Given the description of an element on the screen output the (x, y) to click on. 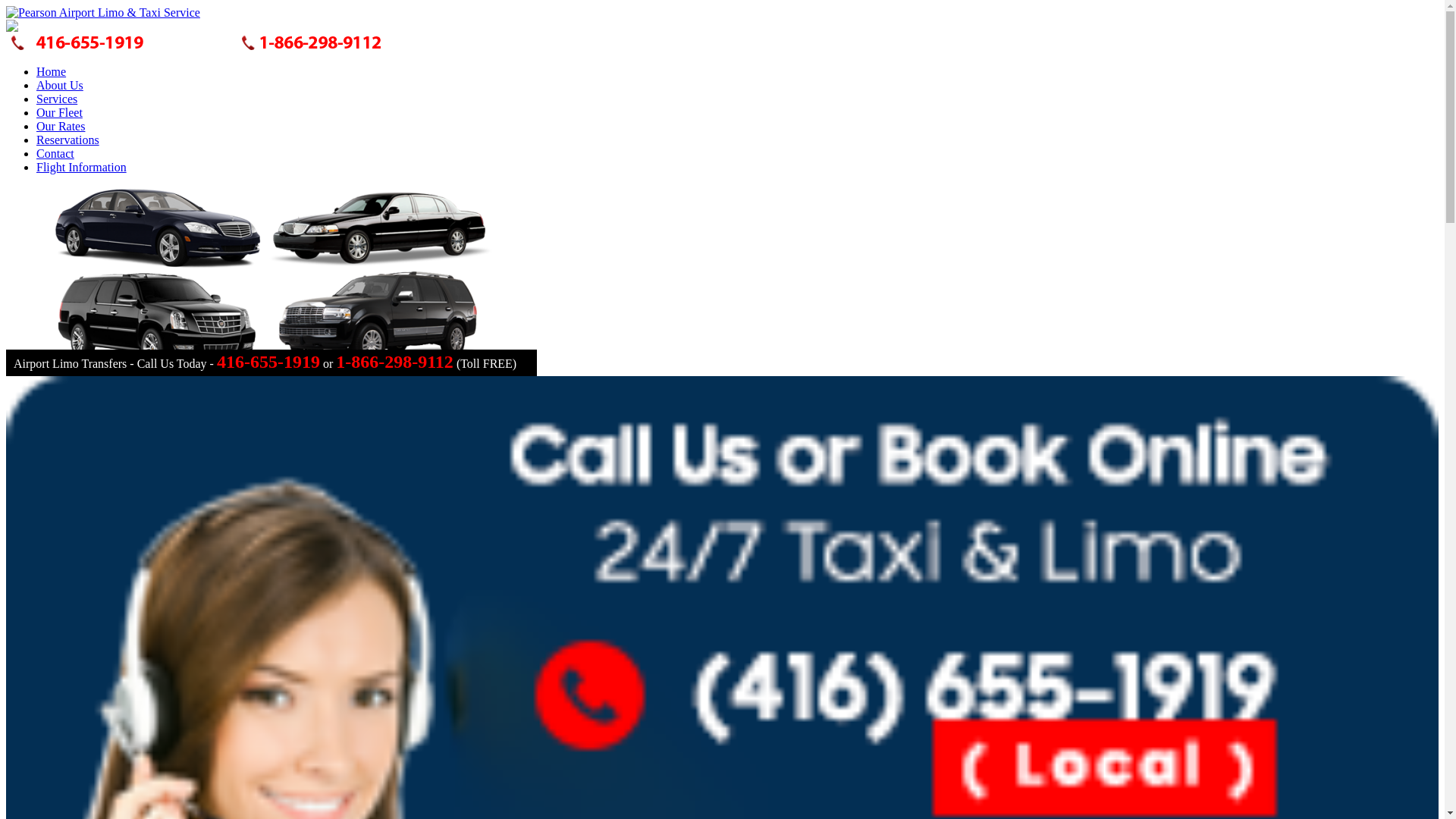
Reservations Element type: text (67, 139)
Our Fleet Element type: text (59, 112)
Flight Information Element type: text (81, 166)
Our Rates Element type: text (60, 125)
Home Element type: text (50, 71)
Services Element type: text (56, 98)
Contact Element type: text (55, 153)
About Us Element type: text (59, 84)
